Given the description of an element on the screen output the (x, y) to click on. 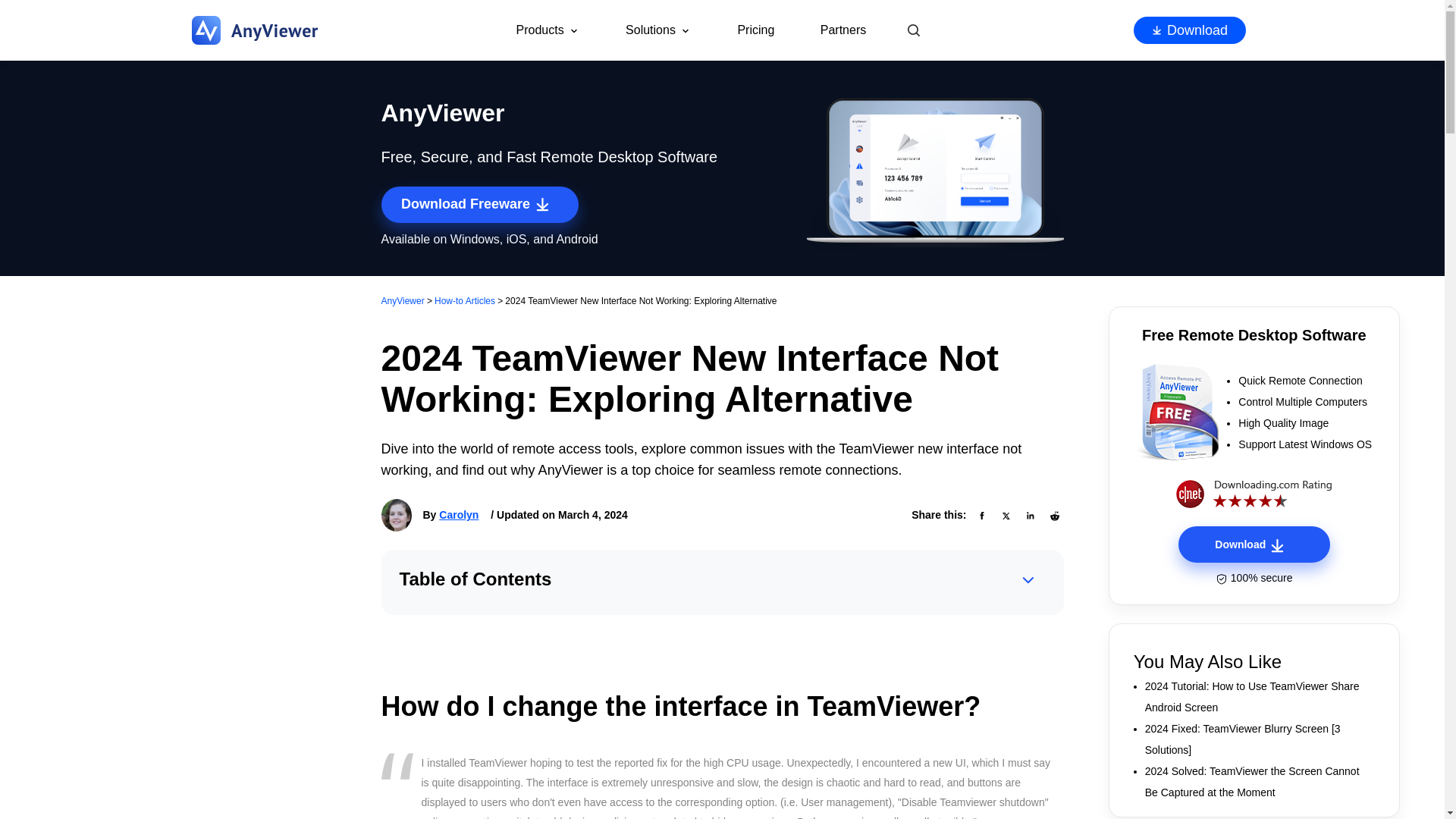
2024 Tutorial: How to Use TeamViewer Share Android Screen (1259, 696)
Products (547, 30)
Partners (842, 30)
Download (1188, 30)
Pricing (755, 30)
AnyViewer (401, 300)
Search (913, 29)
Download Freeware (479, 204)
Carolyn (459, 514)
Solutions (658, 30)
How-to Articles (464, 300)
